Given the description of an element on the screen output the (x, y) to click on. 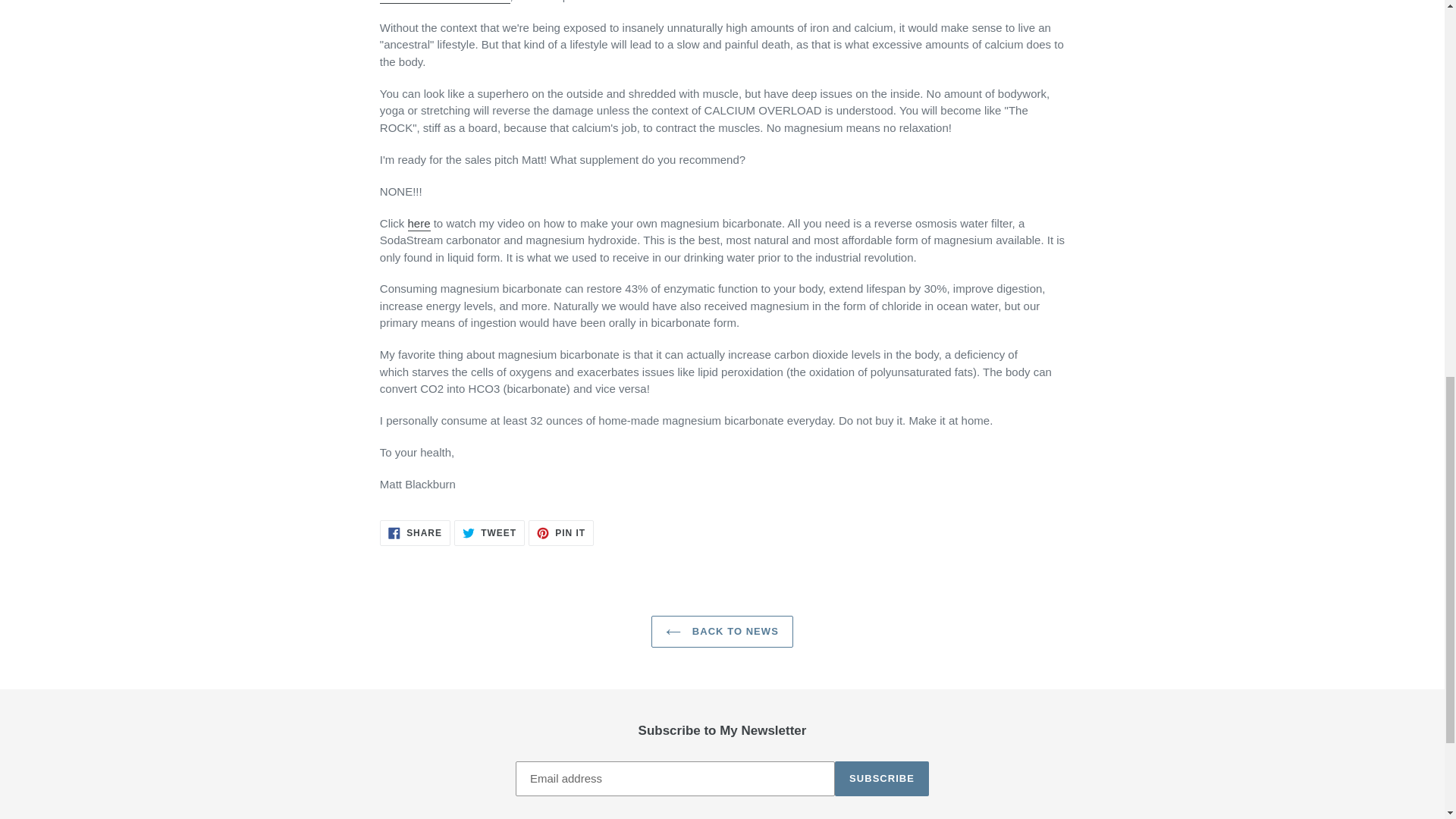
here (414, 533)
SUBSCRIBE (418, 223)
BACK TO NEWS (489, 533)
